Given the description of an element on the screen output the (x, y) to click on. 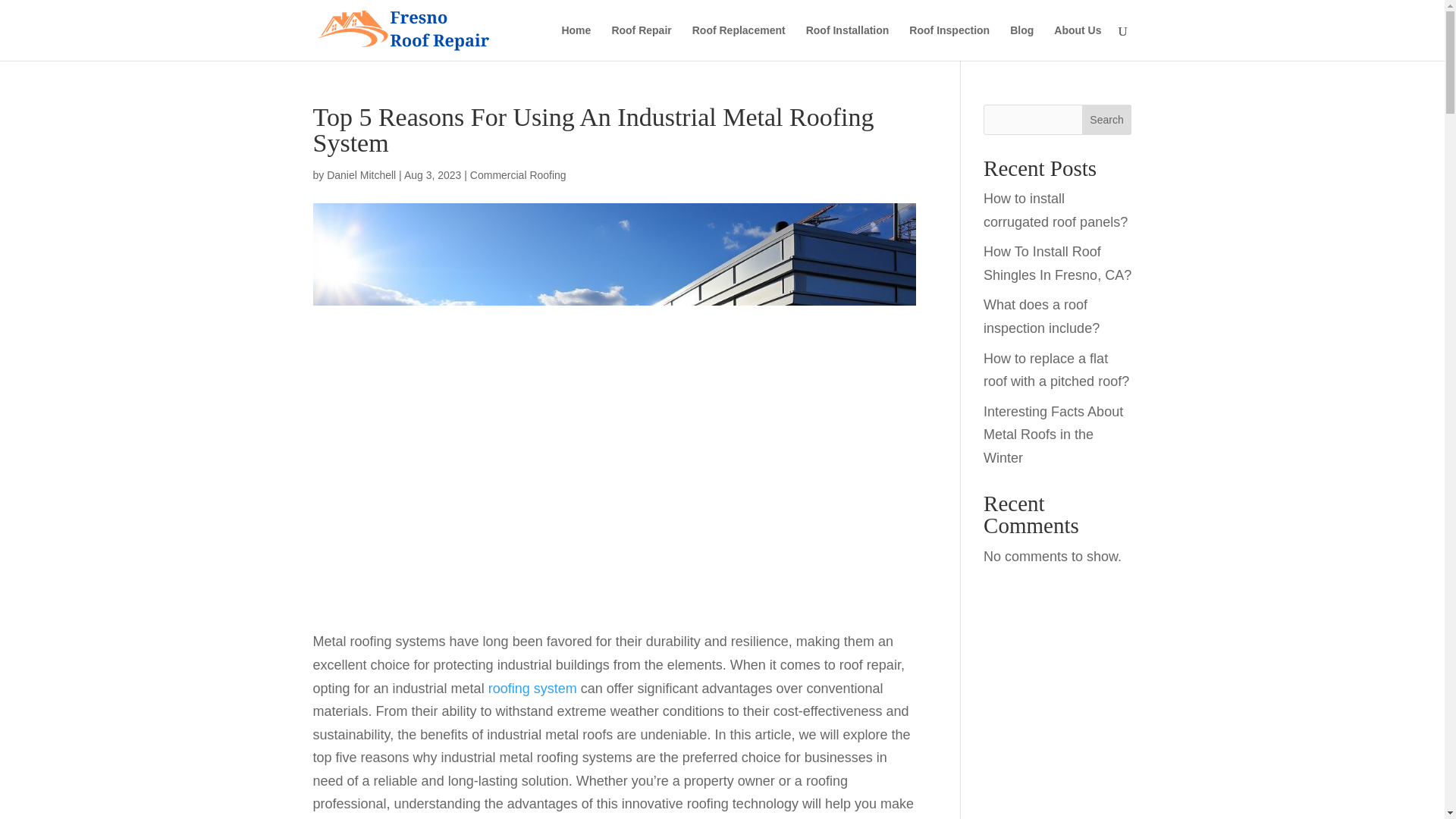
How To Install Roof Shingles In Fresno, CA? (1057, 263)
Roof Repair (641, 42)
What does a roof inspection include? (1041, 316)
Search (1106, 119)
roofing system (531, 688)
How to install corrugated roof panels? (1055, 210)
Daniel Mitchell (361, 174)
Roof Replacement (739, 42)
Roof Inspection (949, 42)
About Us (1077, 42)
